Given the description of an element on the screen output the (x, y) to click on. 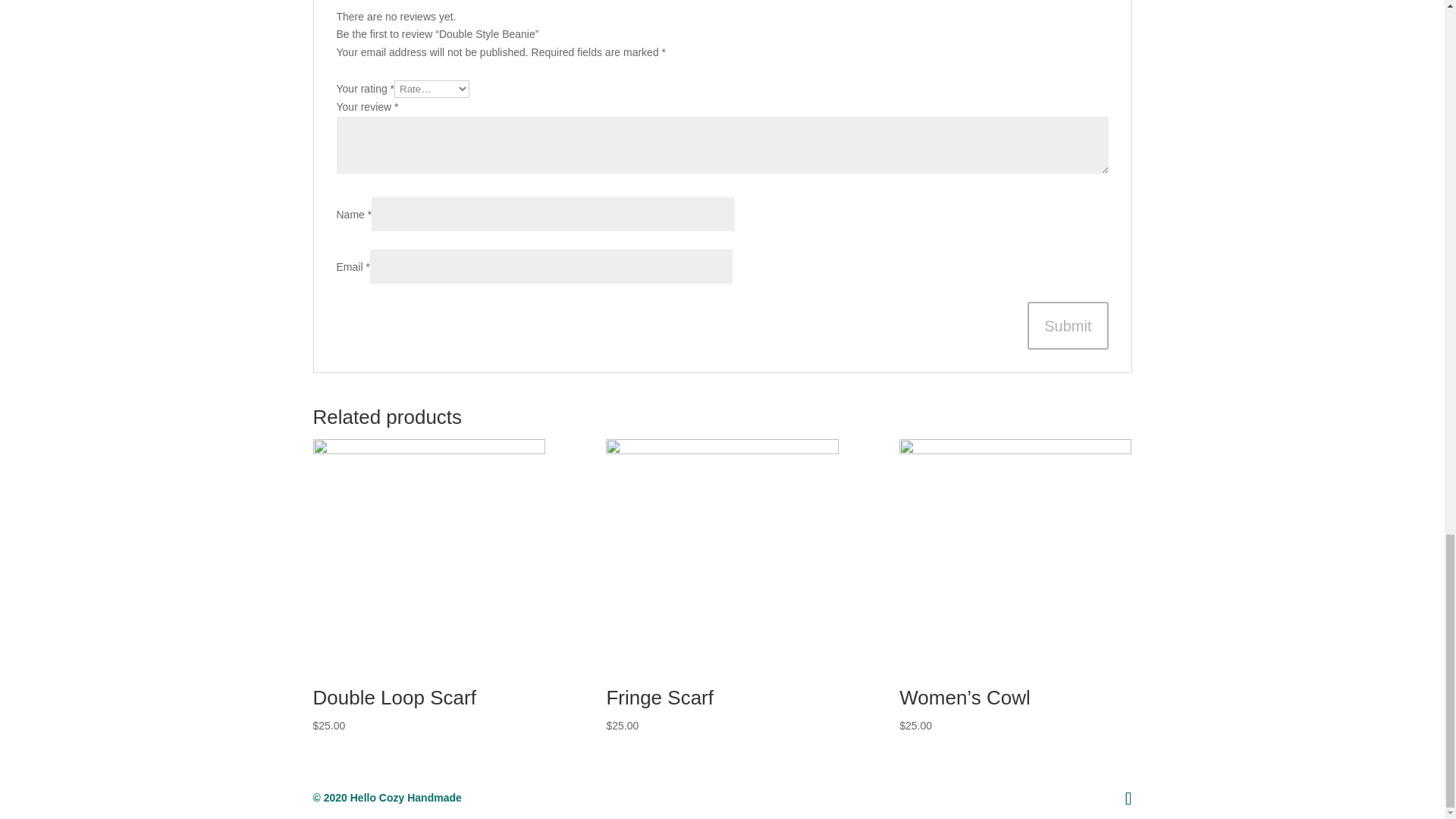
Submit (1067, 325)
Submit (1067, 325)
